Given the description of an element on the screen output the (x, y) to click on. 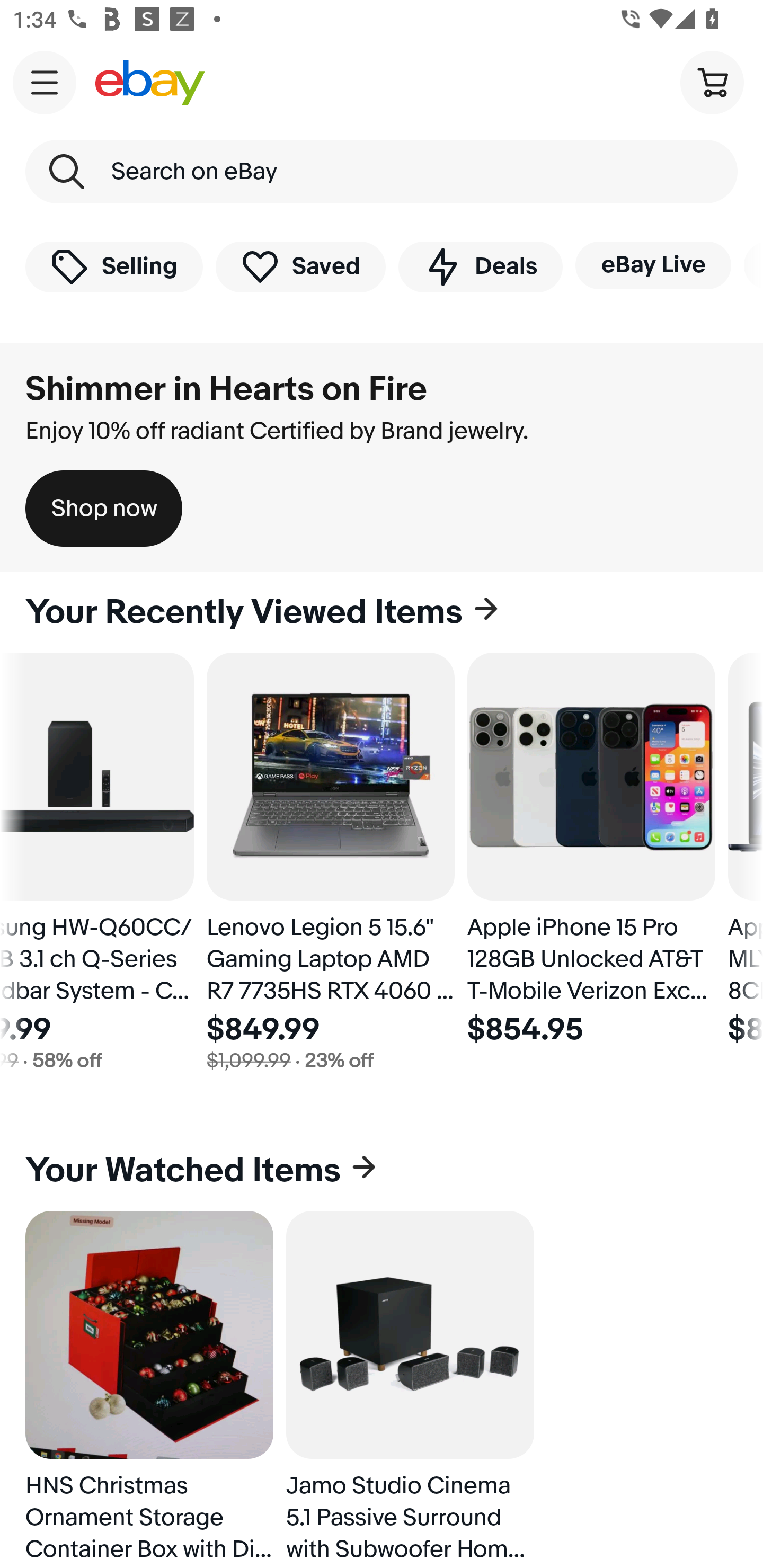
Main navigation, open (44, 82)
Cart button shopping cart (711, 81)
Search on eBay Search Keyword Search on eBay (381, 171)
Selling (113, 266)
Saved (300, 266)
Deals (480, 266)
eBay Live (652, 264)
Shimmer in Hearts on Fire (226, 389)
Shop now (103, 508)
Your Recently Viewed Items   (381, 612)
Your Watched Items   (381, 1170)
